Given the description of an element on the screen output the (x, y) to click on. 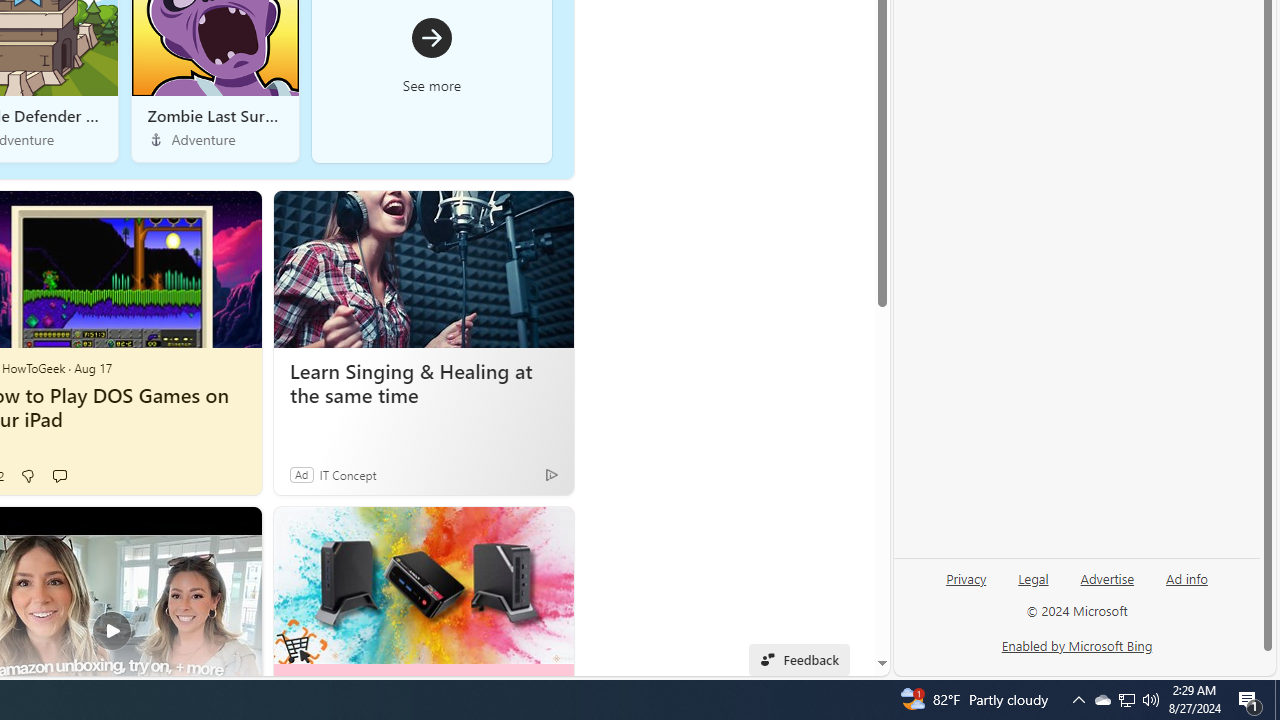
Legal (1033, 586)
Dislike (27, 475)
Privacy (966, 586)
Ad info (1187, 577)
Feedback (798, 659)
Hide this story (512, 530)
Start the conversation (59, 475)
Advertise (1107, 577)
IT Concept (347, 474)
Legal (1033, 577)
Ad (301, 474)
See more (548, 530)
Advertise (1106, 586)
See more (431, 54)
